Given the description of an element on the screen output the (x, y) to click on. 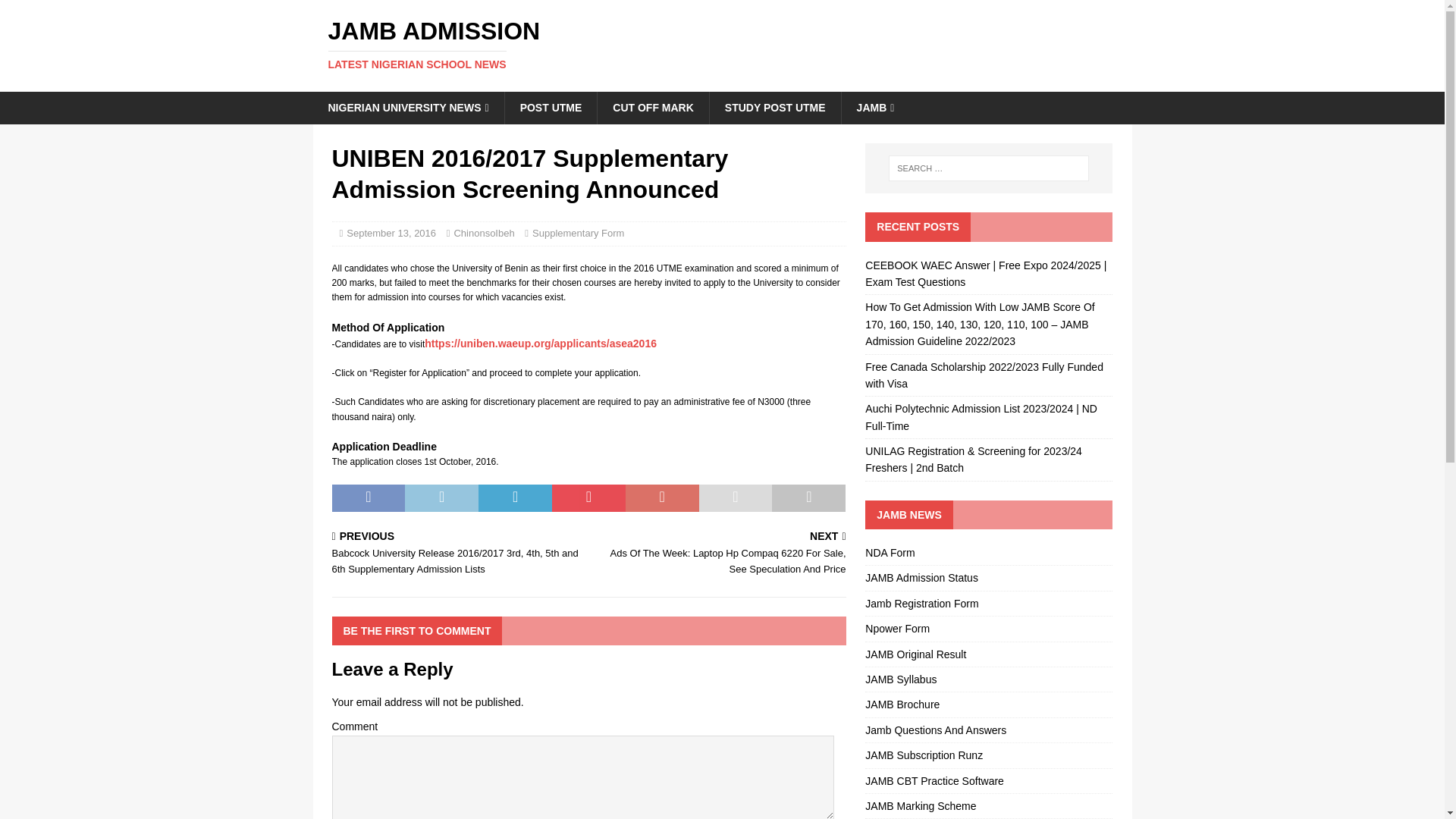
Jamb Admission (721, 44)
Supplementary Form (578, 233)
September 13, 2016 (721, 44)
NIGERIAN UNIVERSITY NEWS (390, 233)
JAMB (408, 107)
CUT OFF MARK (875, 107)
POST UTME (652, 107)
ChinonsoIbeh (549, 107)
STUDY POST UTME (482, 233)
